Given the description of an element on the screen output the (x, y) to click on. 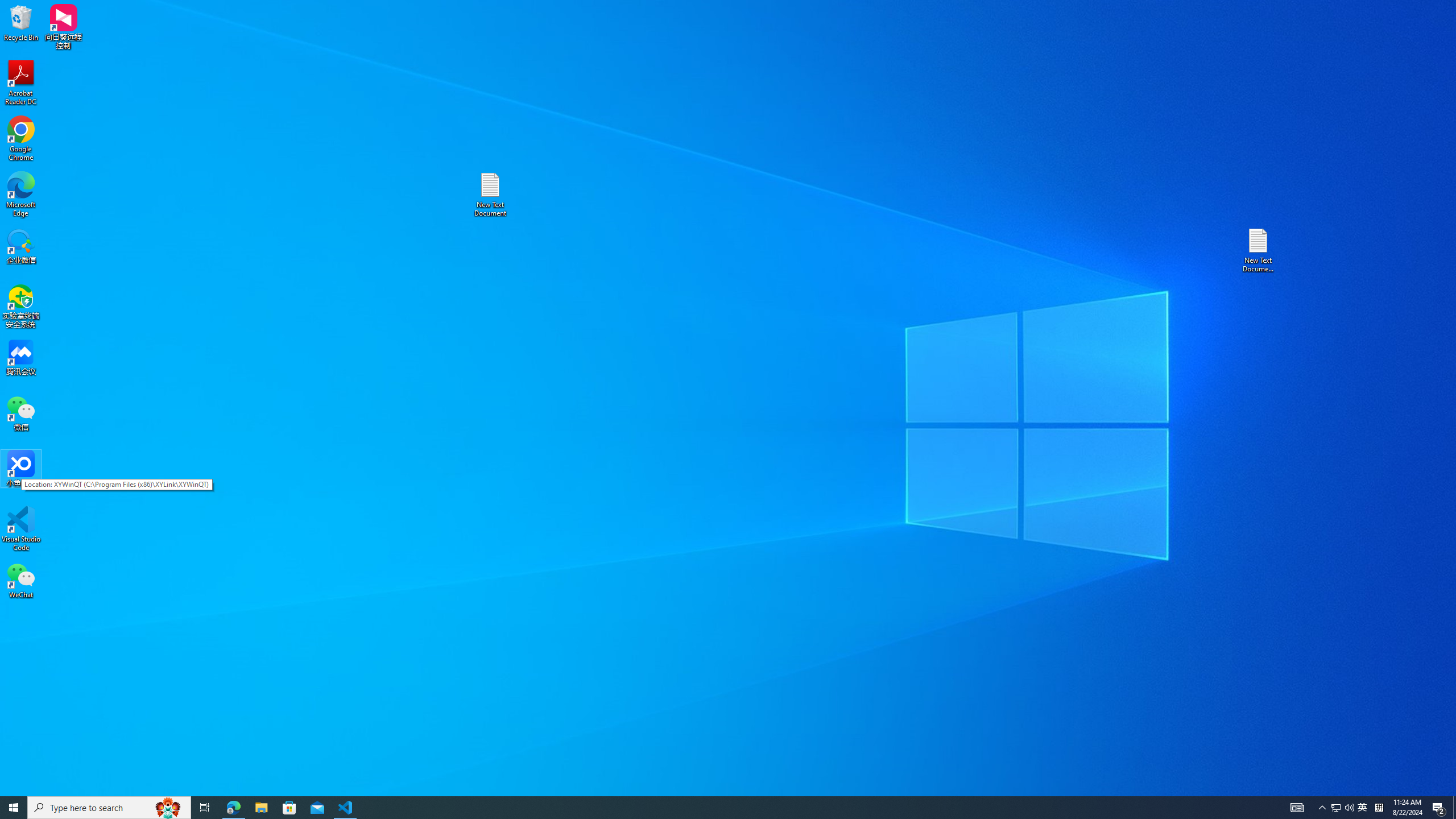
Q2790: 100% (1349, 807)
Microsoft Store (289, 807)
Notification Chevron (1322, 807)
Show desktop (1454, 807)
Google Chrome (21, 138)
Acrobat Reader DC (21, 82)
AutomationID: 4105 (1297, 807)
Tray Input Indicator - Chinese (Simplified, China) (1378, 807)
Action Center, 2 new notifications (1439, 807)
File Explorer (261, 807)
